Given the description of an element on the screen output the (x, y) to click on. 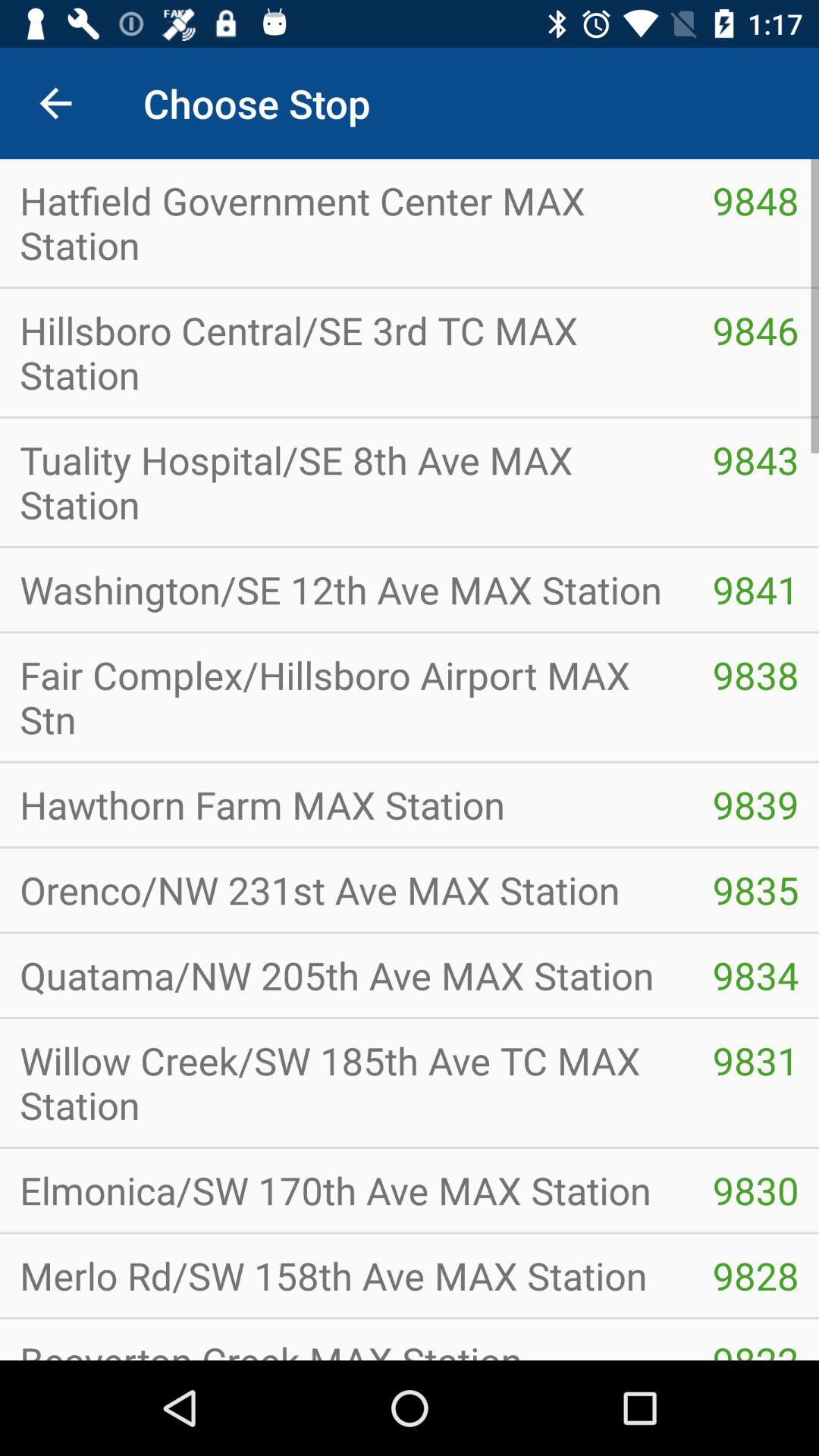
choose the item to the right of hatfield government center item (755, 200)
